Given the description of an element on the screen output the (x, y) to click on. 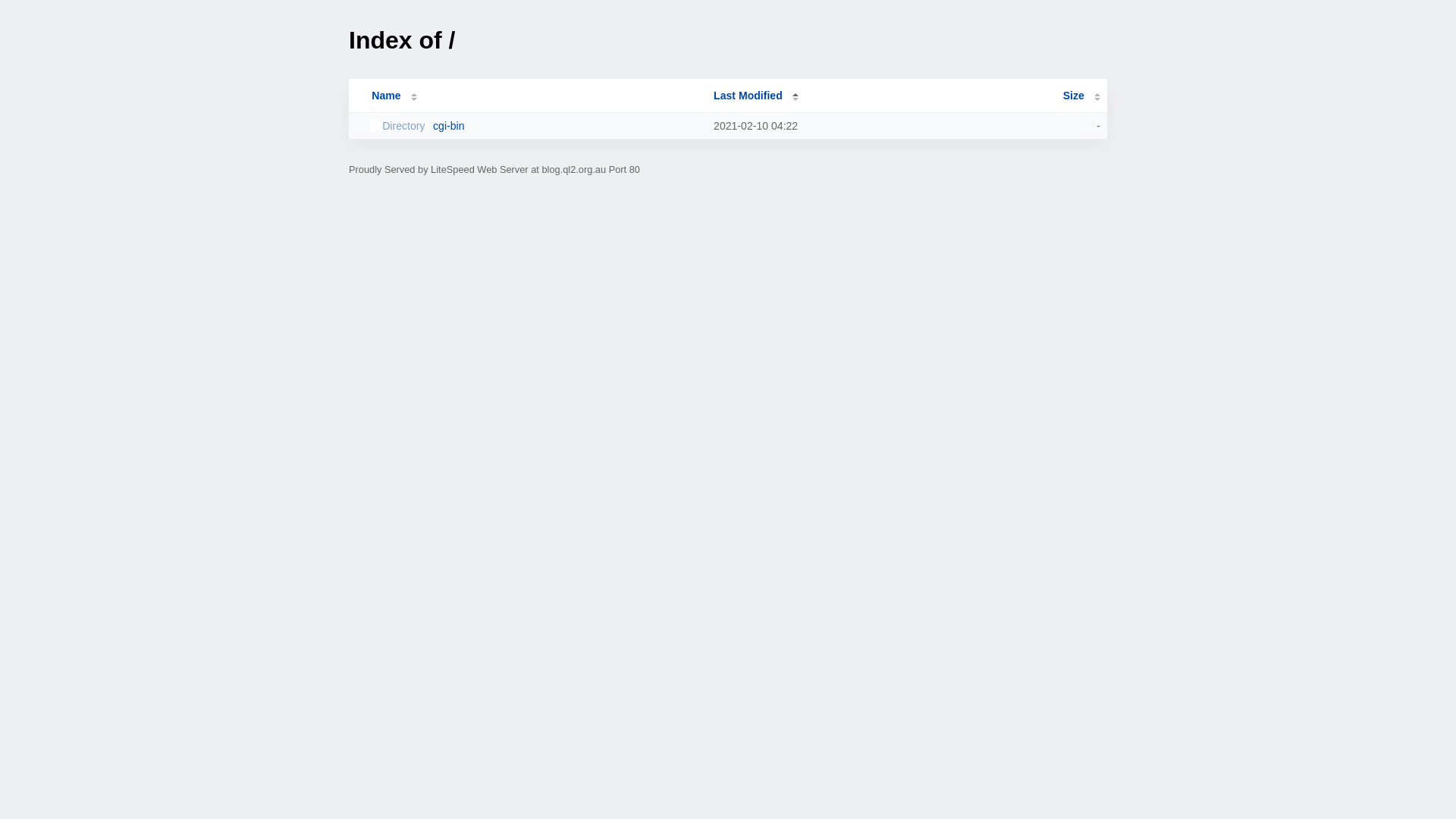
Last Modified Element type: text (755, 95)
Size Element type: text (1081, 95)
cgi-bin Element type: text (534, 125)
Name Element type: text (385, 95)
